Given the description of an element on the screen output the (x, y) to click on. 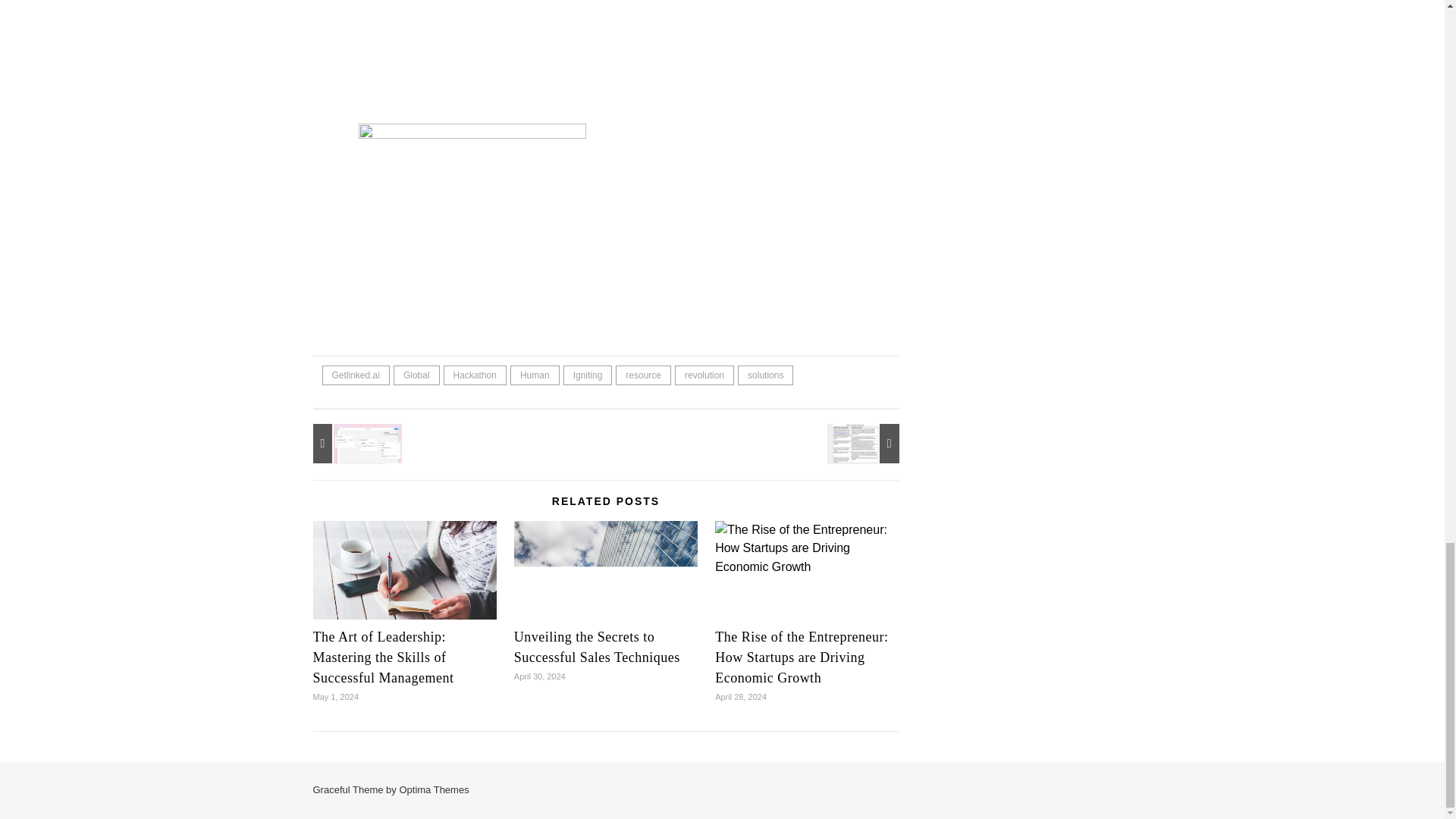
Global (416, 374)
Unveiling the Secrets to Successful Sales Techniques (605, 581)
Igniting (587, 374)
revolution (704, 374)
resource (643, 374)
Getlinked.ai (354, 374)
solutions (765, 374)
